Given the description of an element on the screen output the (x, y) to click on. 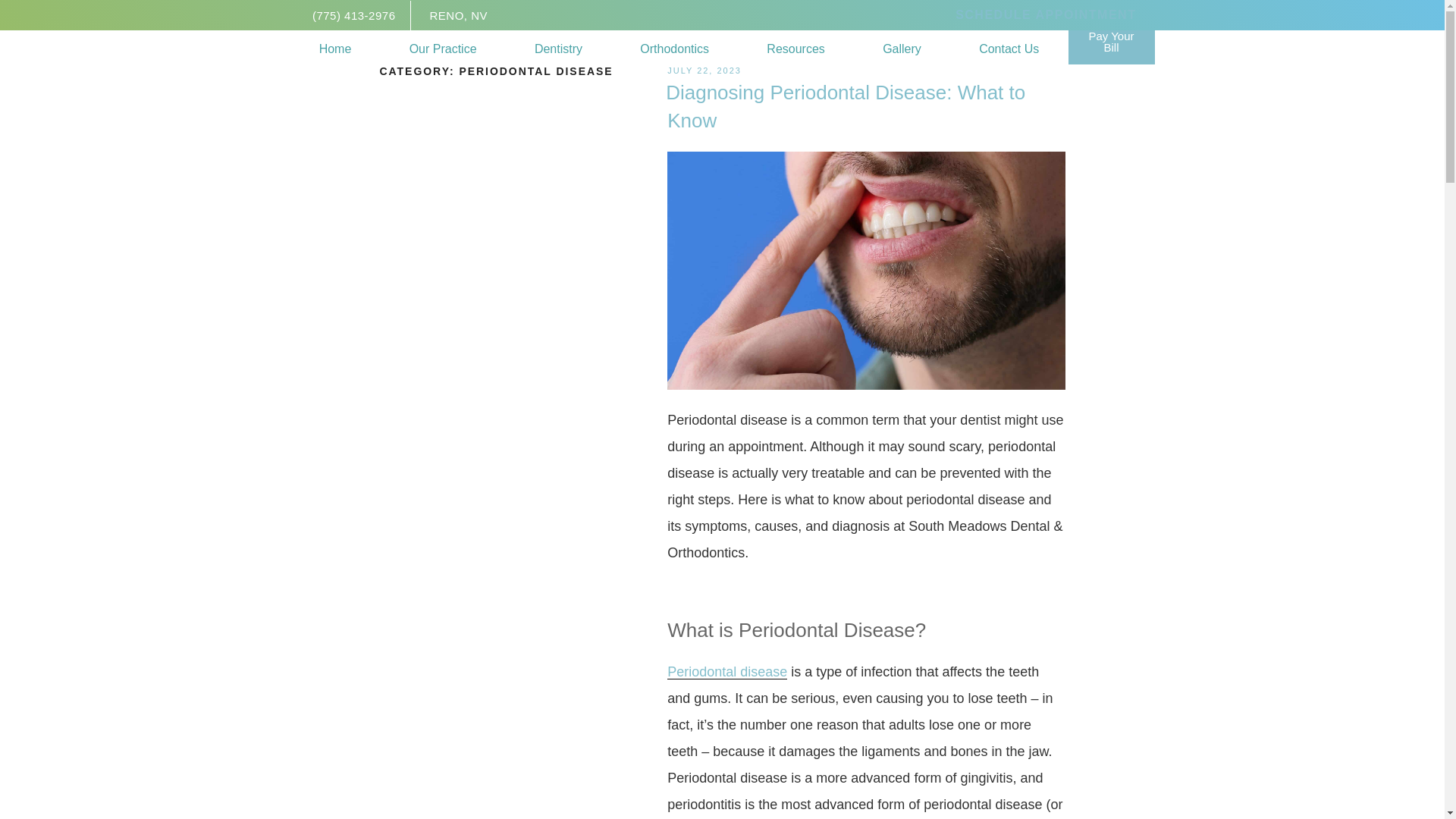
Resources (795, 49)
Our Practice (442, 49)
Dentistry (558, 49)
Home (334, 49)
SCHEDULE APPOINTMENT (1045, 15)
RENO, NV (457, 14)
Orthodontics (674, 49)
